Given the description of an element on the screen output the (x, y) to click on. 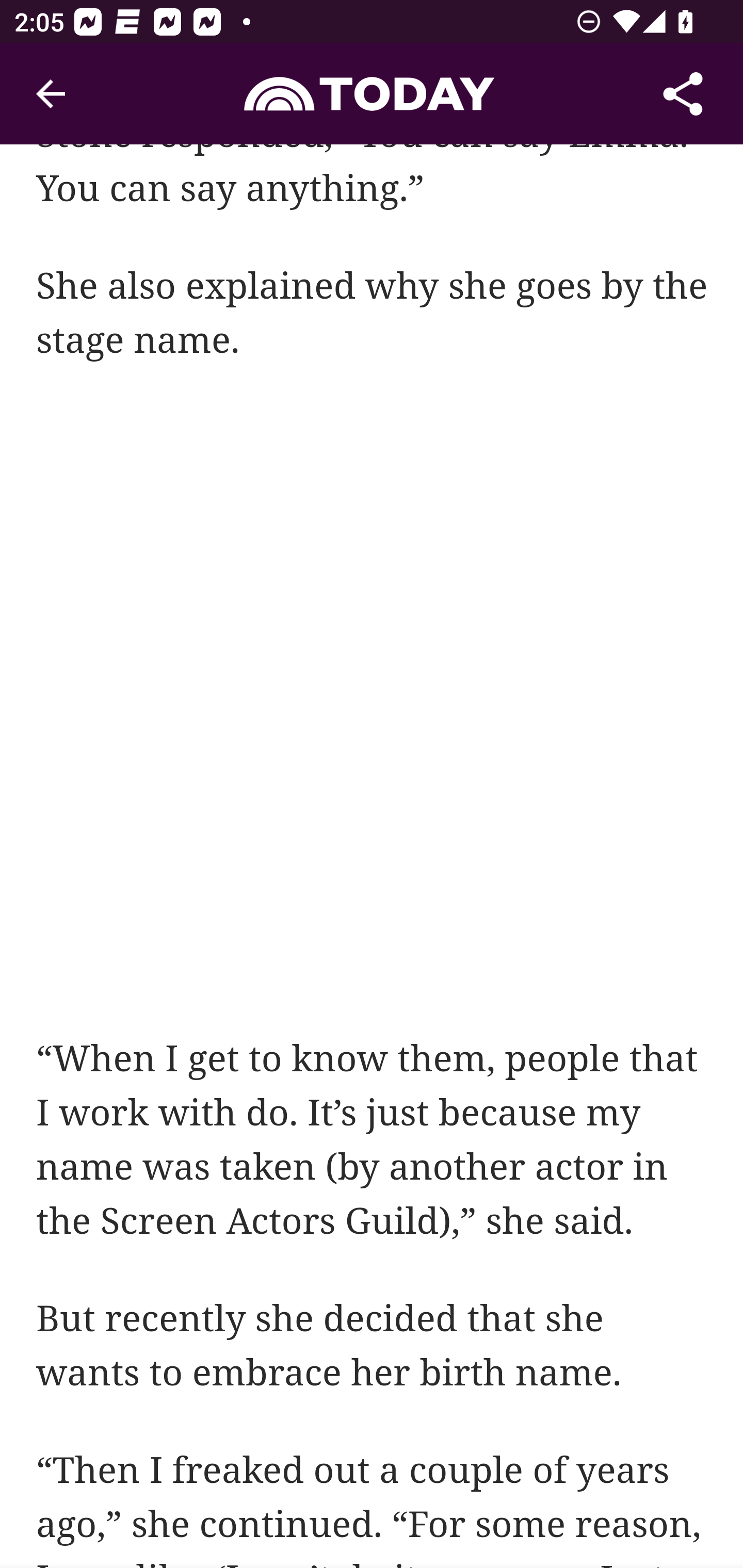
Navigate up (50, 93)
Share Article, button (683, 94)
Header, Today (371, 93)
